Given the description of an element on the screen output the (x, y) to click on. 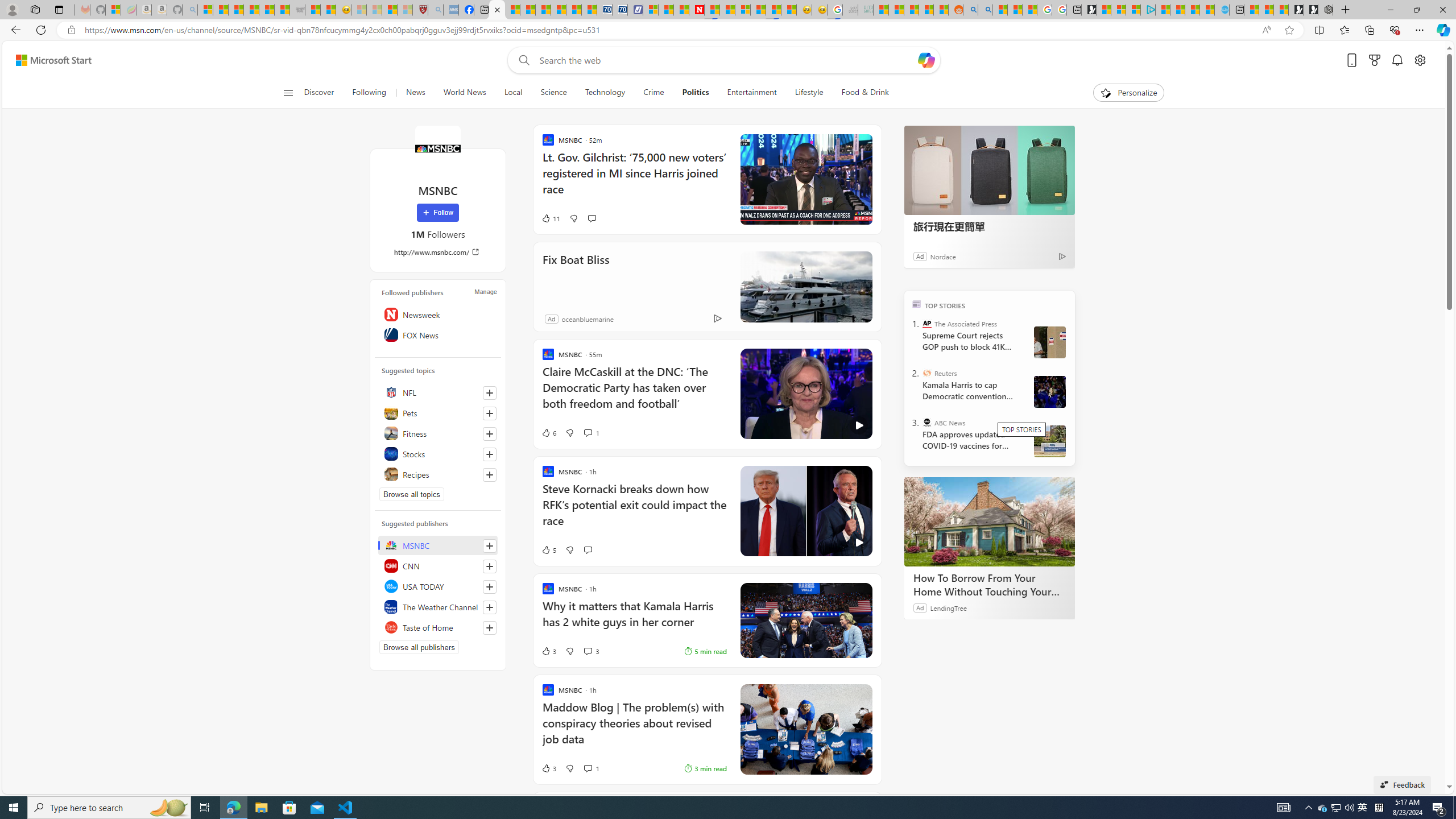
Fix Boat Bliss (575, 274)
12 Popular Science Lies that Must be Corrected - Sleeping (405, 9)
